Given the description of an element on the screen output the (x, y) to click on. 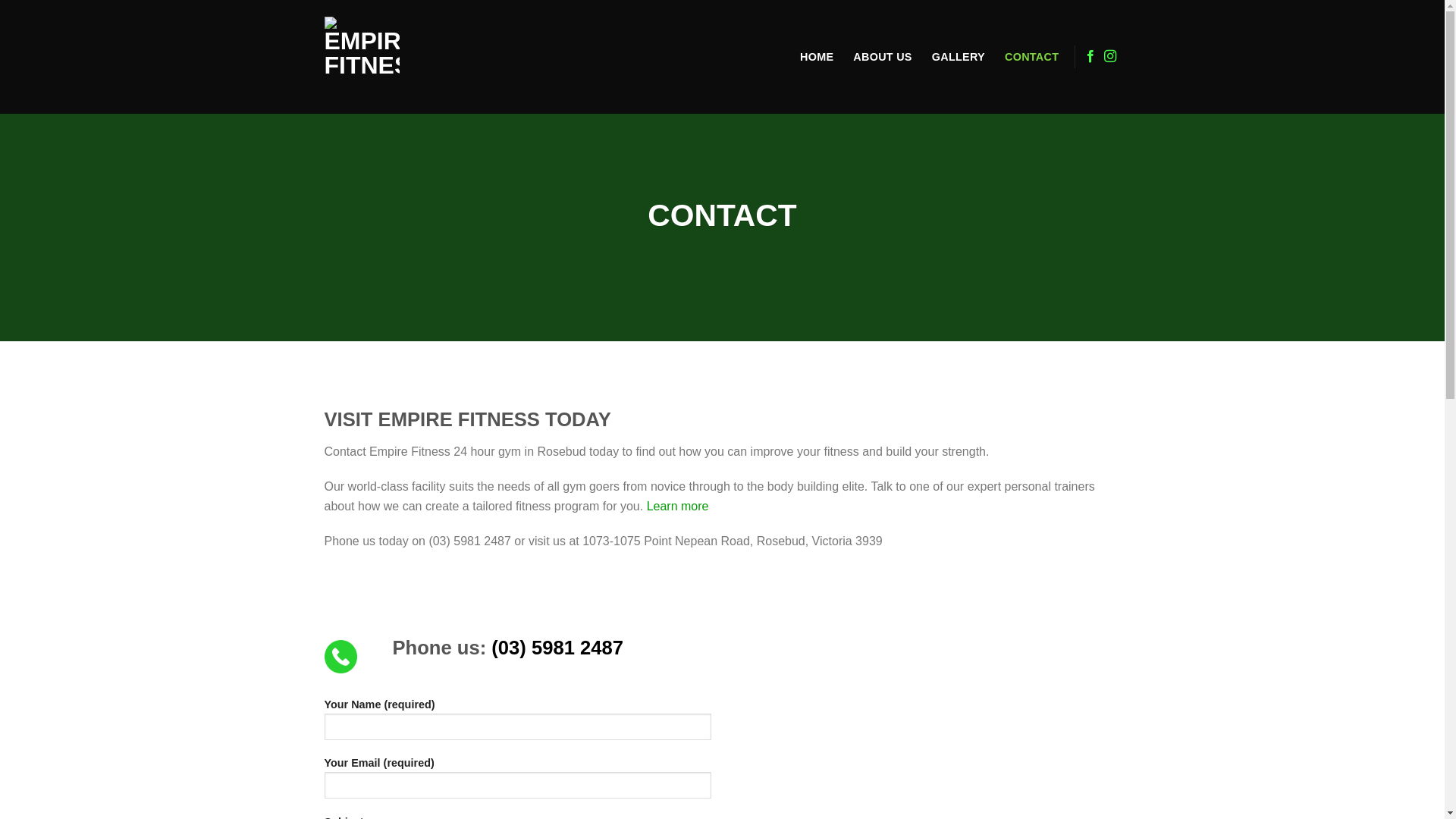
(03) 5981 2487 Element type: text (557, 647)
Follow on Facebook Element type: hover (1090, 56)
CONTACT Element type: text (1031, 56)
Follow on Instagram Element type: hover (1110, 56)
HOME Element type: text (816, 56)
ABOUT US Element type: text (882, 56)
GALLERY Element type: text (958, 56)
Learn more Element type: text (677, 505)
